Given the description of an element on the screen output the (x, y) to click on. 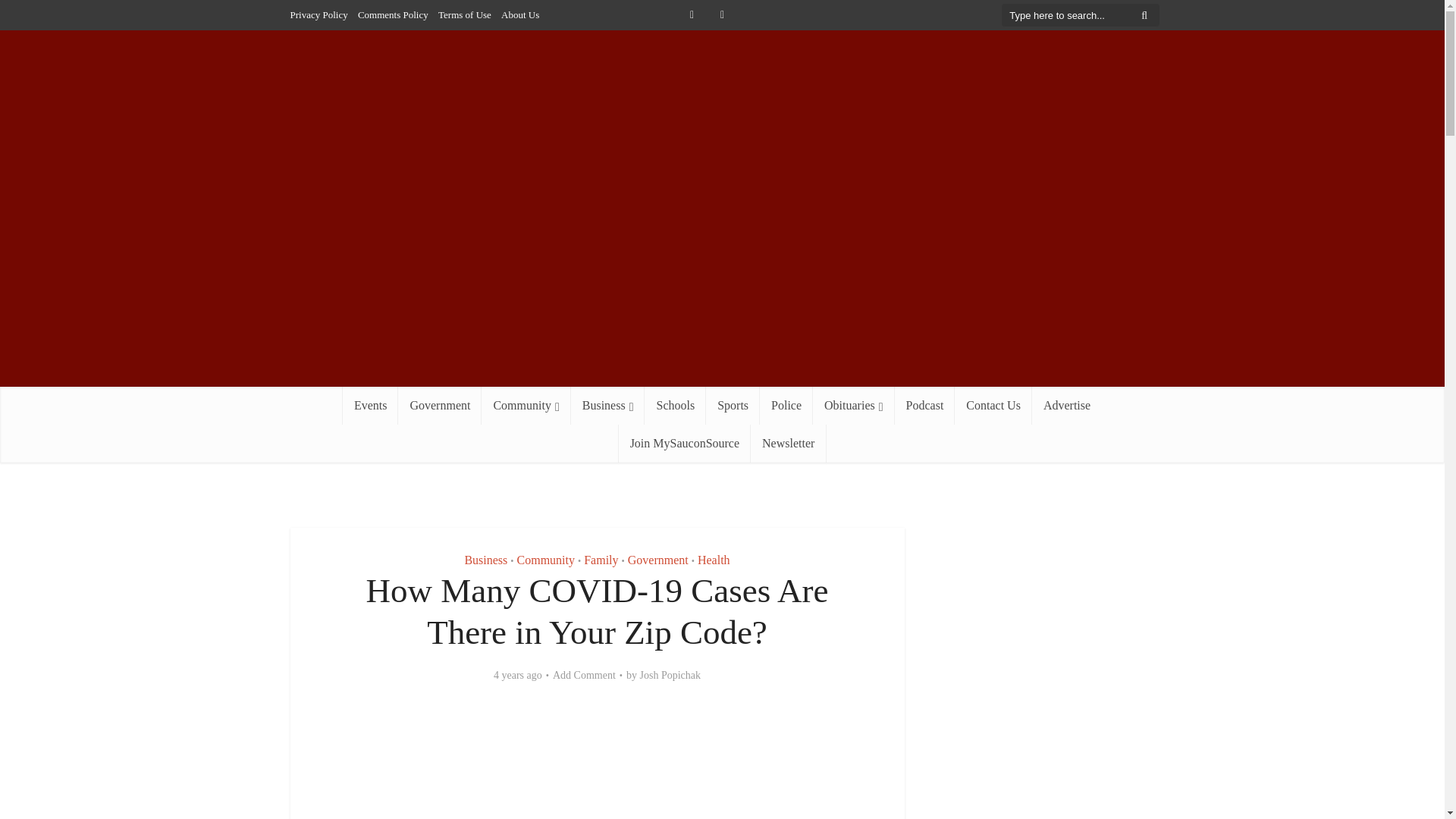
Family (600, 559)
Community (545, 559)
Add Comment (584, 675)
Community (525, 405)
Comments Policy (393, 14)
Join MySauconSource (684, 443)
Police (786, 405)
Business (485, 559)
Josh Popichak (670, 675)
Sports (733, 405)
